Given the description of an element on the screen output the (x, y) to click on. 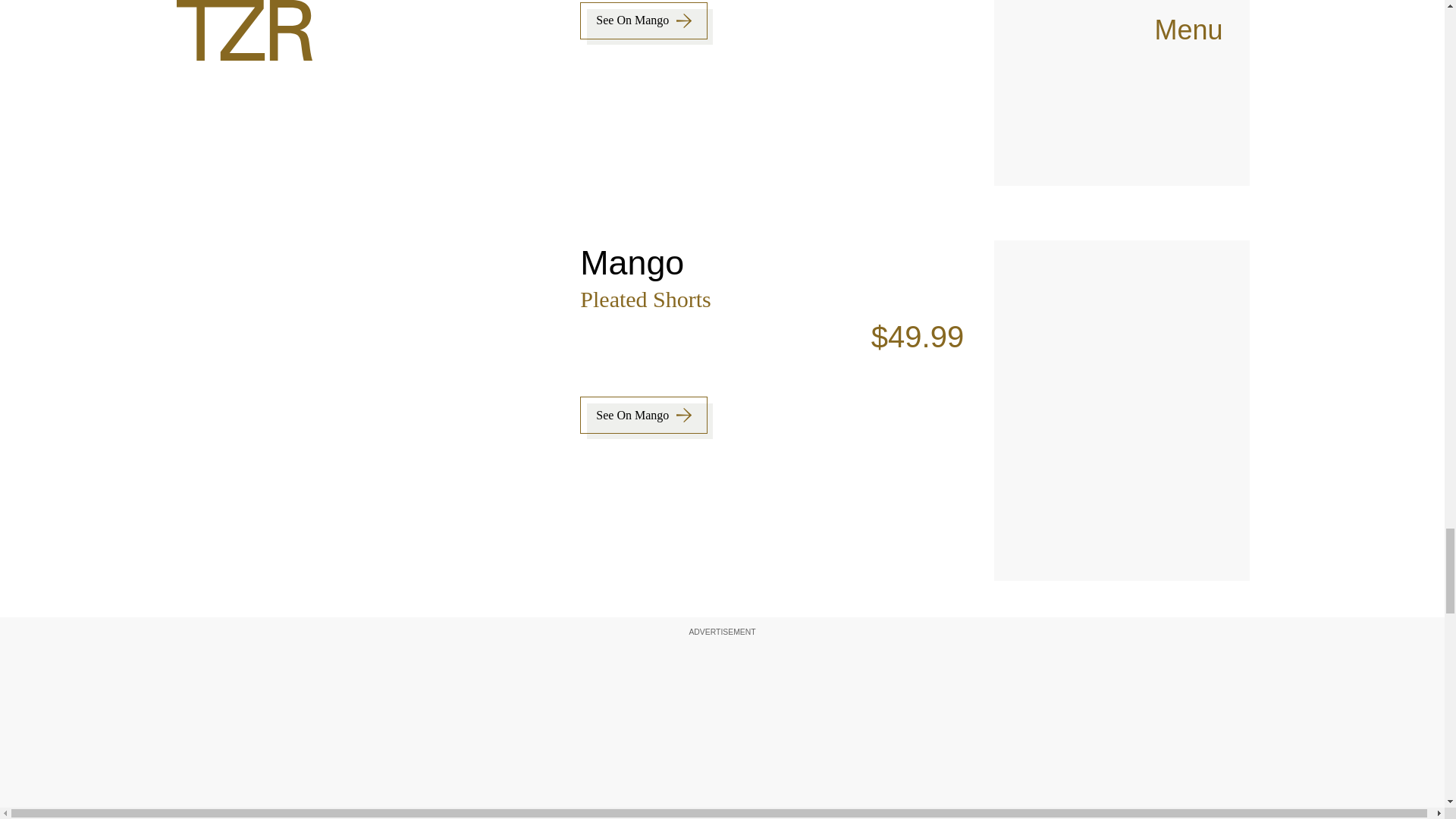
See On Mango (643, 20)
See On Mango (643, 415)
